Given the description of an element on the screen output the (x, y) to click on. 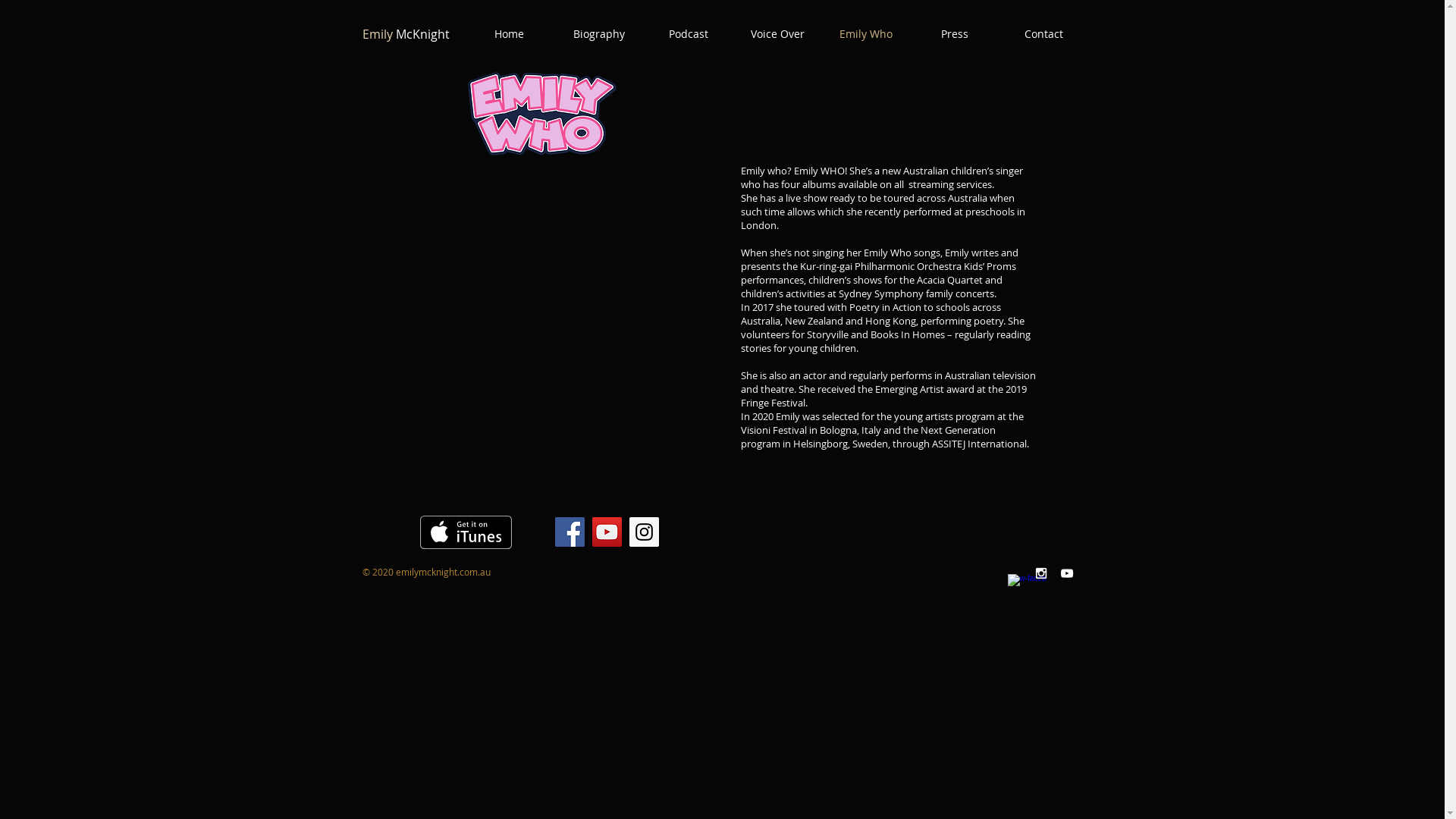
Voice Over Element type: text (776, 34)
Biography Element type: text (598, 34)
External YouTube Element type: hover (551, 409)
External YouTube Element type: hover (551, 239)
Emily Who Element type: text (866, 34)
Emily McKnight Element type: text (405, 33)
Contact Element type: text (1043, 34)
Get it on iTunes Element type: hover (465, 532)
Home Element type: text (508, 34)
Press Element type: text (954, 34)
Podcast Element type: text (687, 34)
